Given the description of an element on the screen output the (x, y) to click on. 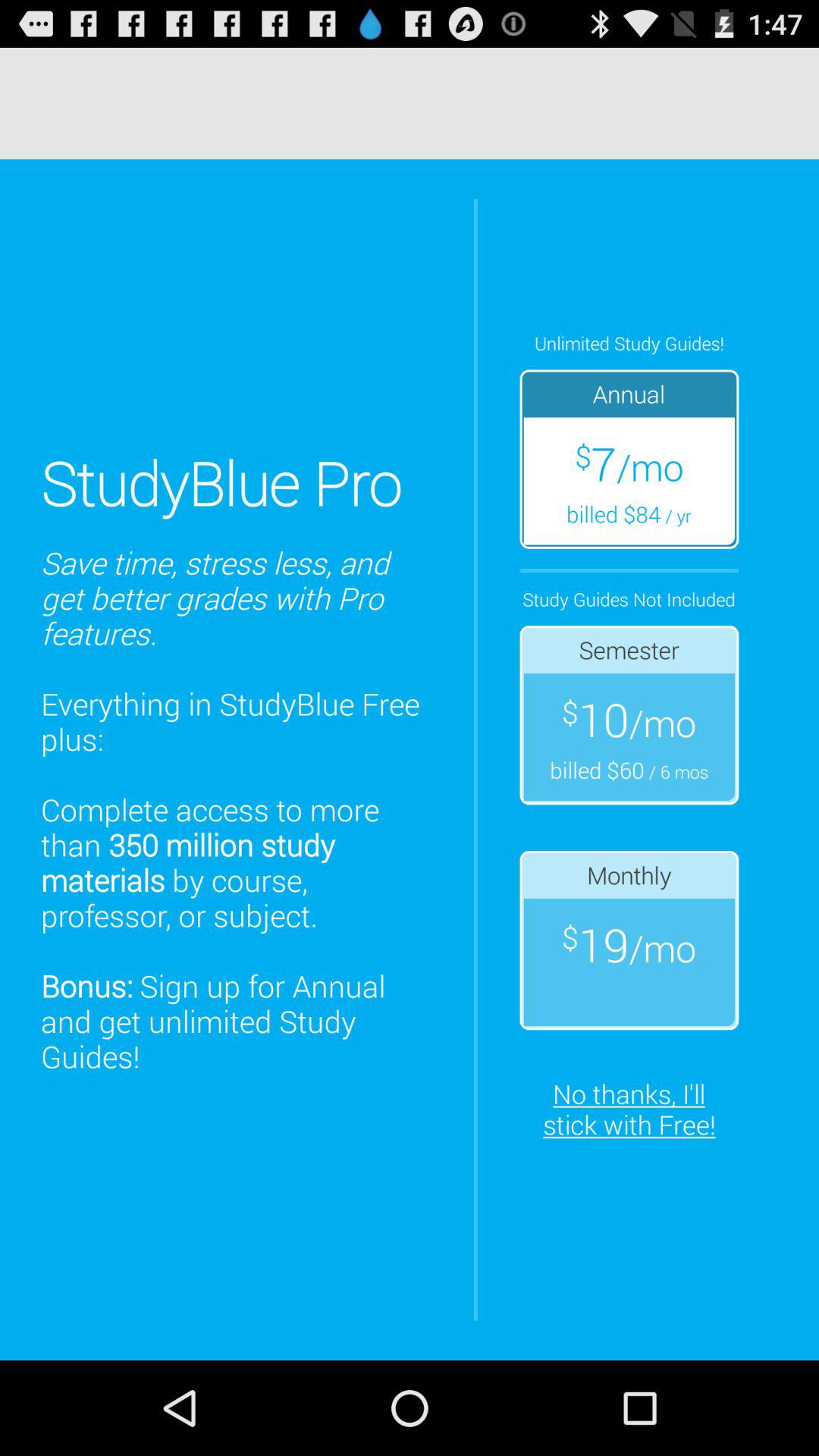
press no thanks i item (629, 1109)
